Given the description of an element on the screen output the (x, y) to click on. 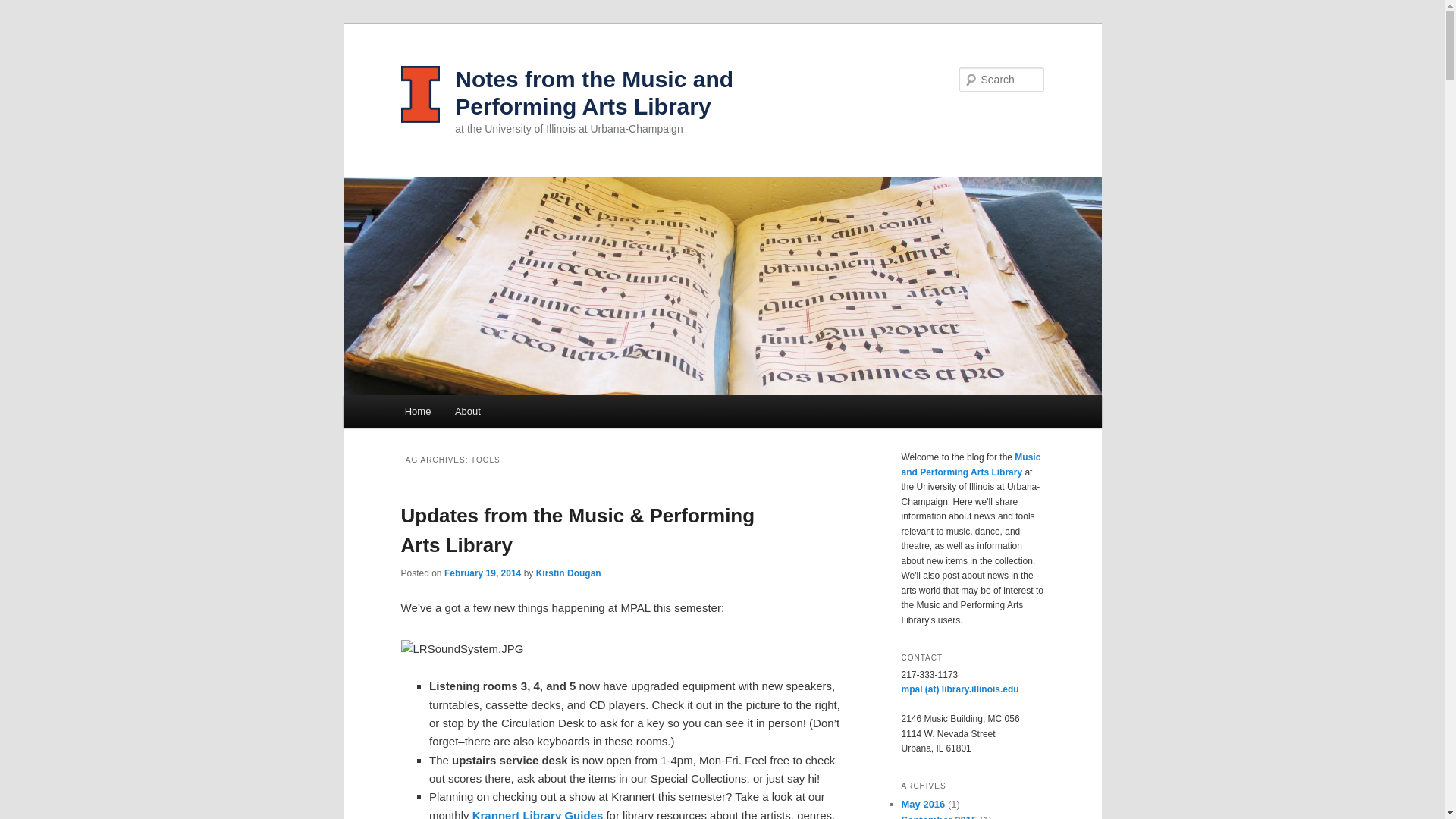
Home (417, 410)
About (467, 410)
Notes from the Music and Performing Arts Library (593, 92)
Search (24, 8)
12:51 pm (482, 573)
February 19, 2014 (482, 573)
View all posts by Kirstin Dougan (568, 573)
Krannert Library Guides (537, 814)
Kirstin Dougan (568, 573)
